Given the description of an element on the screen output the (x, y) to click on. 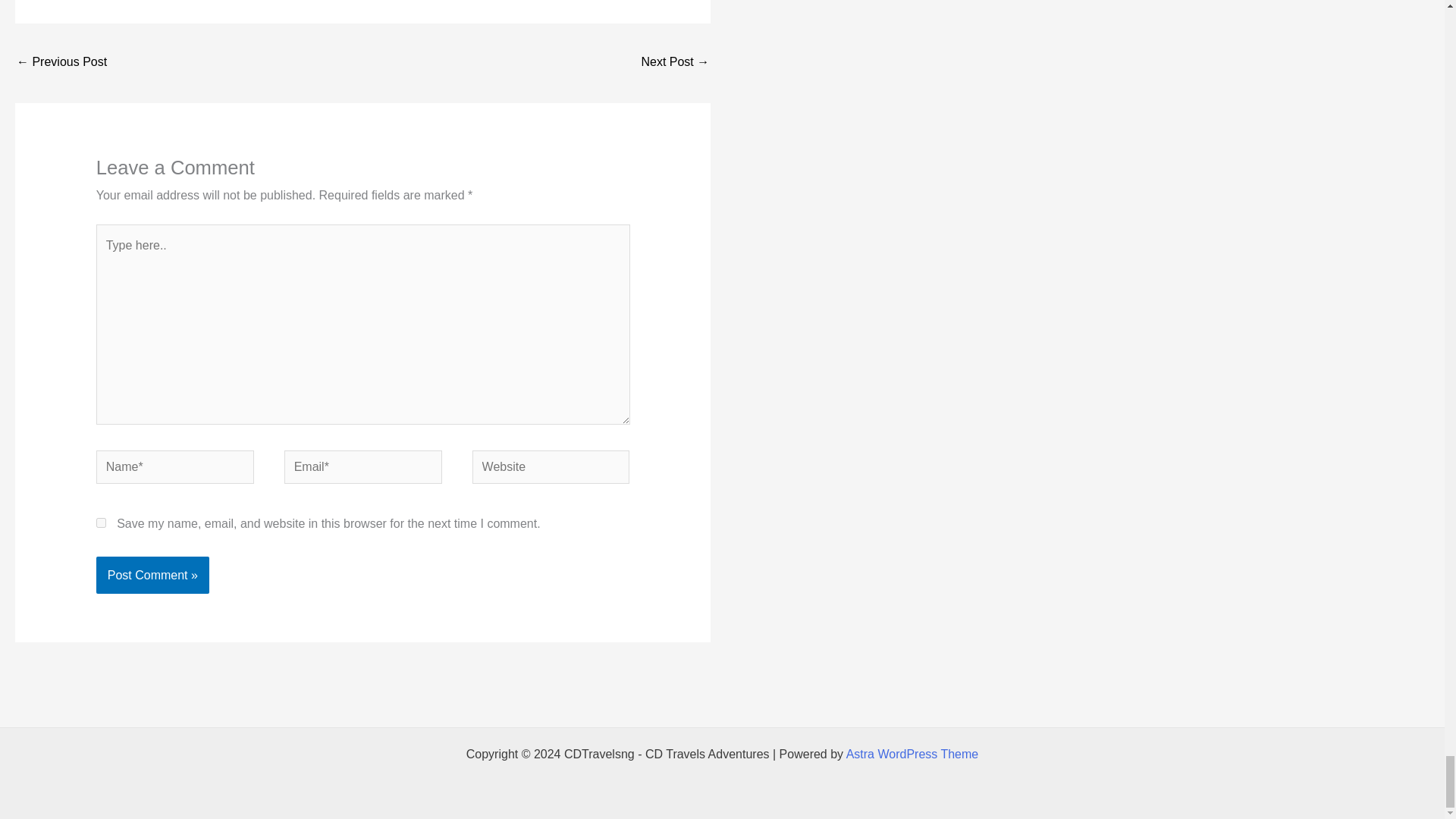
21 Best Things to Do in Quito, Ecuador In 2024 (61, 62)
yes (101, 522)
